Given the description of an element on the screen output the (x, y) to click on. 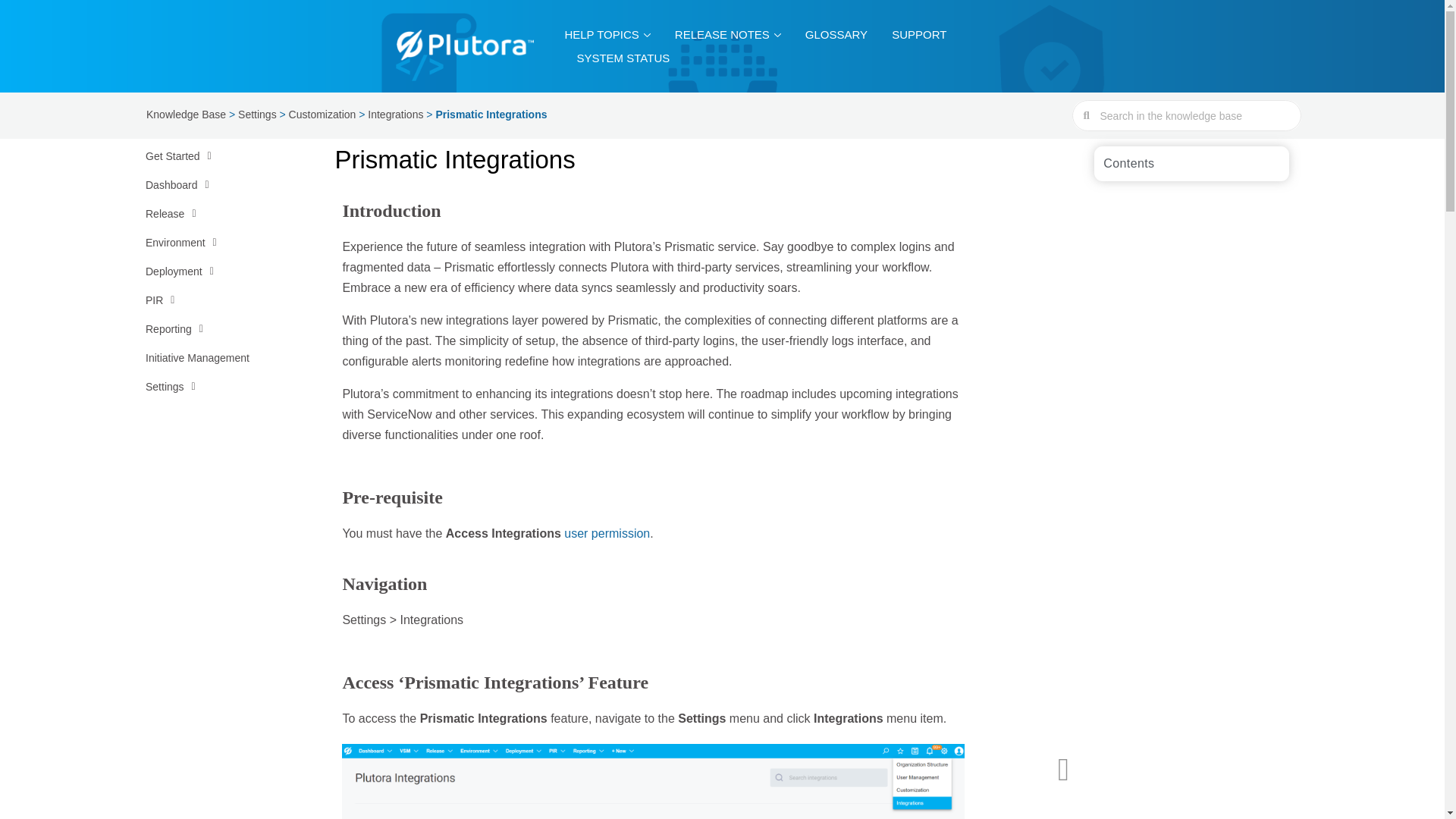
Release (213, 213)
Customization (322, 114)
Settings (257, 114)
RELEASE NOTES (727, 33)
Integrations (395, 114)
Knowledge Base (186, 114)
SUPPORT (918, 33)
Search (1194, 115)
Get Started (213, 155)
HELP TOPICS (606, 33)
SYSTEM STATUS (622, 57)
GLOSSARY (836, 33)
Dashboard (213, 184)
